Given the description of an element on the screen output the (x, y) to click on. 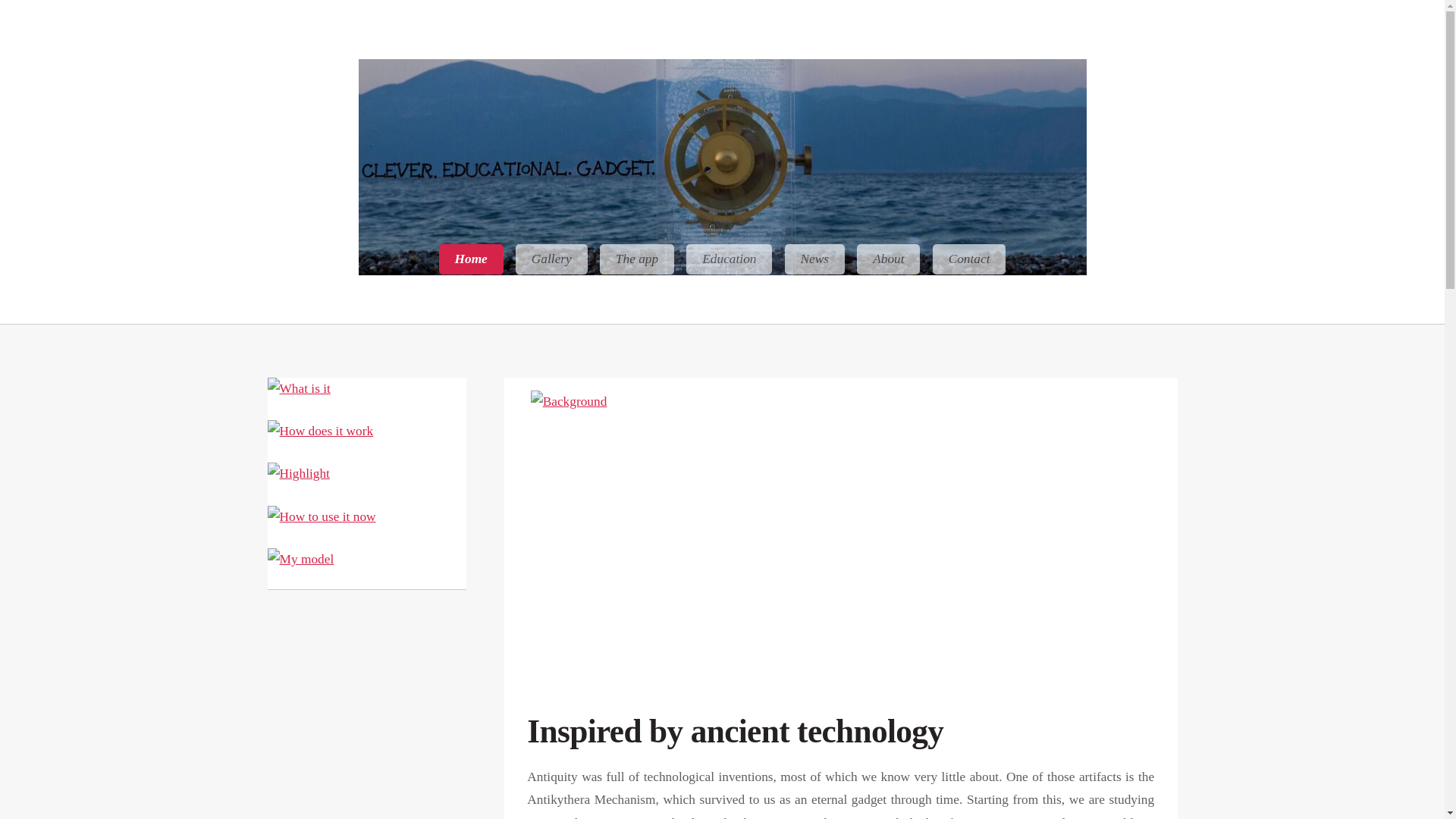
Home (471, 259)
Education (728, 259)
Contact (969, 259)
About (888, 259)
Gallery (551, 259)
News (814, 259)
The app (636, 259)
